Given the description of an element on the screen output the (x, y) to click on. 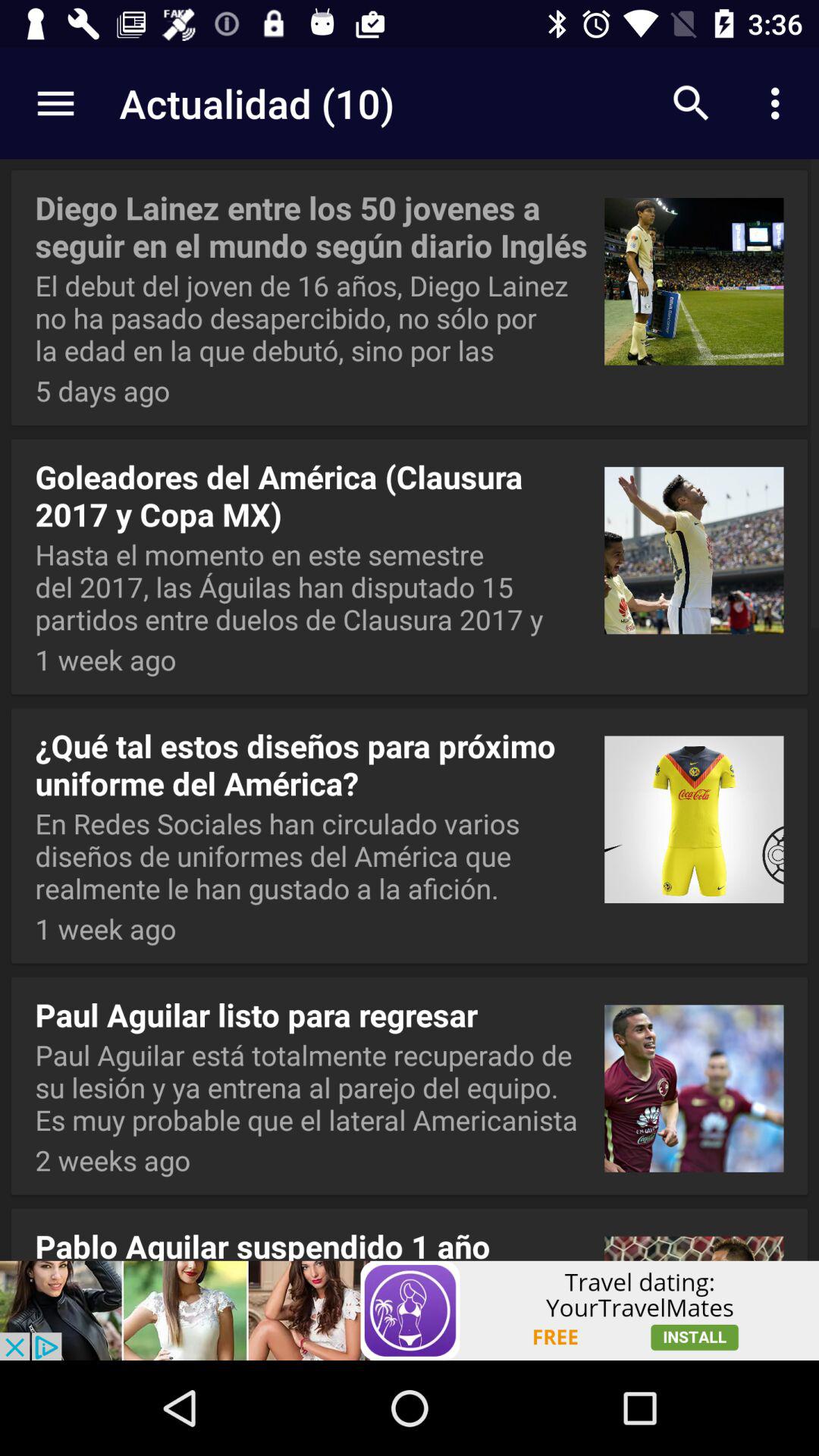
install the particular app (409, 1310)
